Given the description of an element on the screen output the (x, y) to click on. 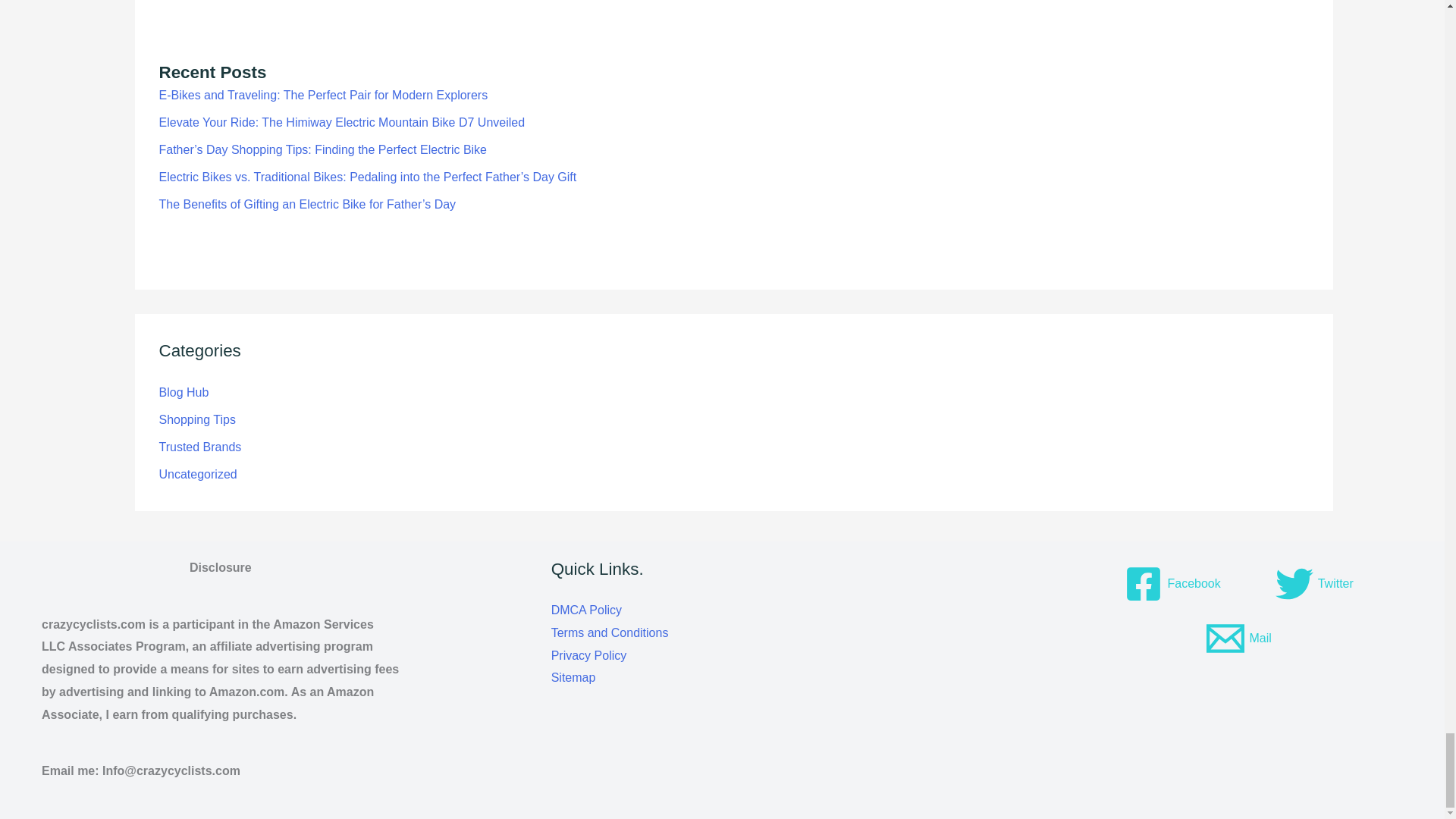
E-Bikes and Traveling: The Perfect Pair for Modern Explorers (322, 94)
